Given the description of an element on the screen output the (x, y) to click on. 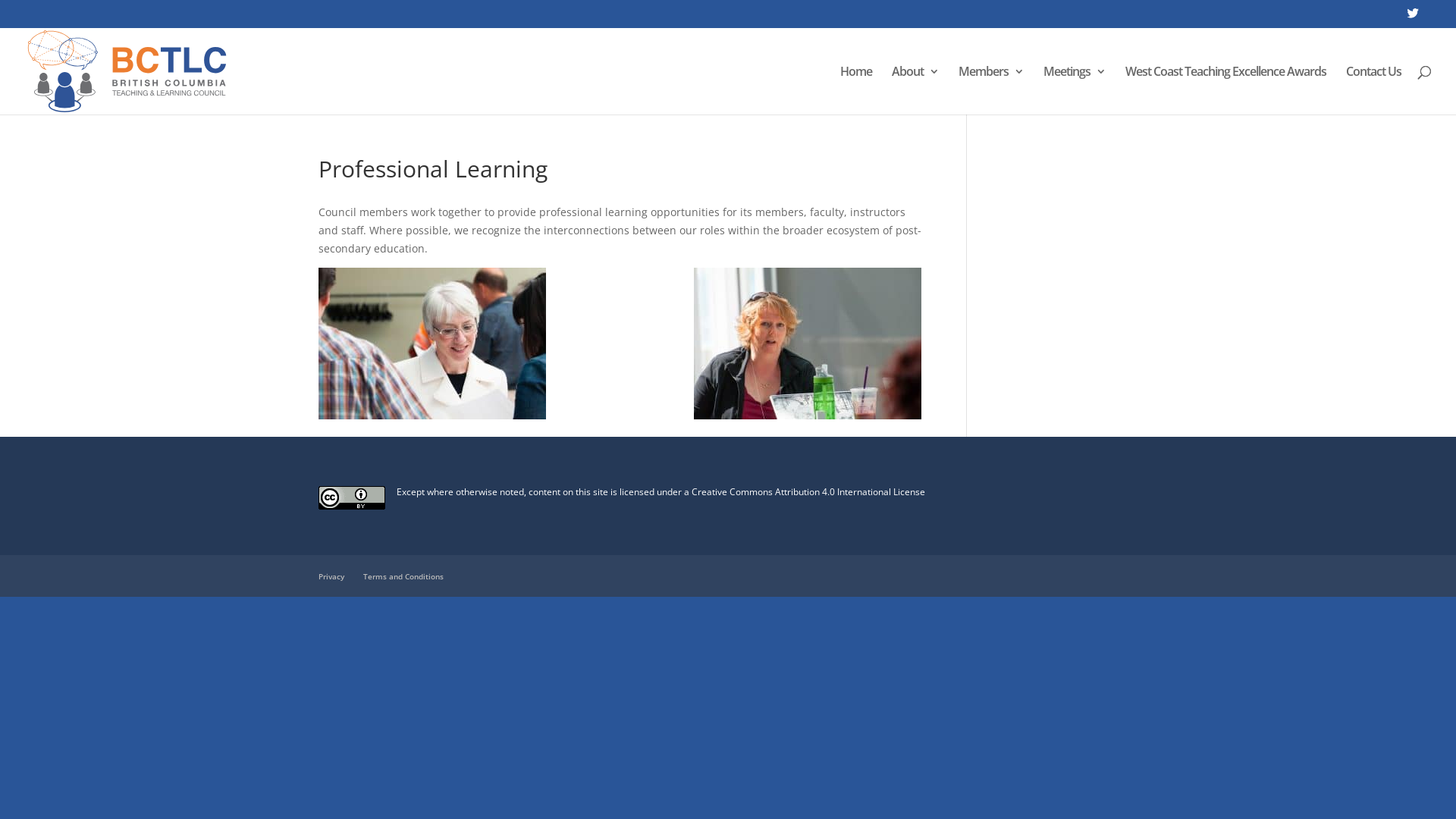
Meetings Element type: text (1074, 89)
Creative Commons Attribution 4.0 International License Element type: text (808, 491)
West Coast Teaching Excellence Awards Element type: text (1225, 89)
Home Element type: text (856, 89)
Privacy Element type: text (331, 576)
Terms and Conditions Element type: text (403, 576)
Contact Us Element type: text (1373, 89)
Members Element type: text (990, 89)
About Element type: text (914, 89)
